Given the description of an element on the screen output the (x, y) to click on. 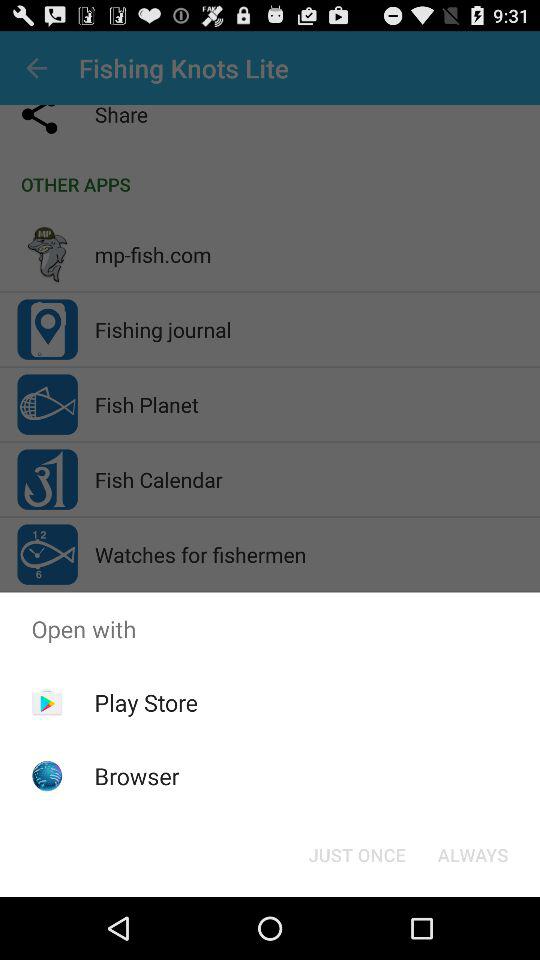
swipe to just once item (356, 854)
